Given the description of an element on the screen output the (x, y) to click on. 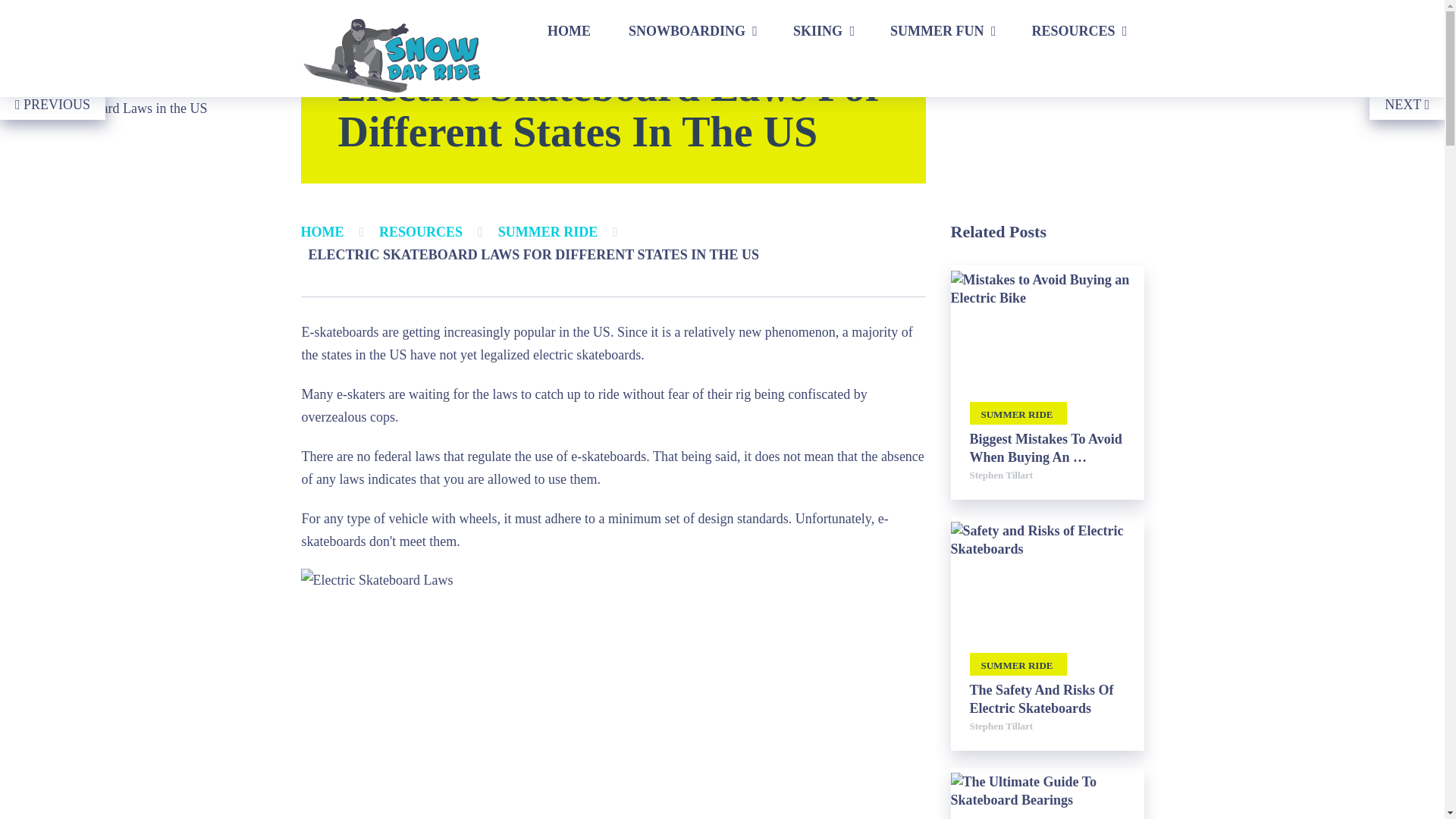
View all posts in Summer Ride (1018, 663)
View all posts in Summer Ride (1018, 413)
HOME (569, 31)
SKIING (822, 31)
The Safety And Risks Of Electric Skateboards (1046, 698)
Posts by Stephen Tillart (1000, 726)
RESOURCES (1076, 31)
SNOWBOARDING (692, 31)
SUMMER FUN (941, 31)
